Given the description of an element on the screen output the (x, y) to click on. 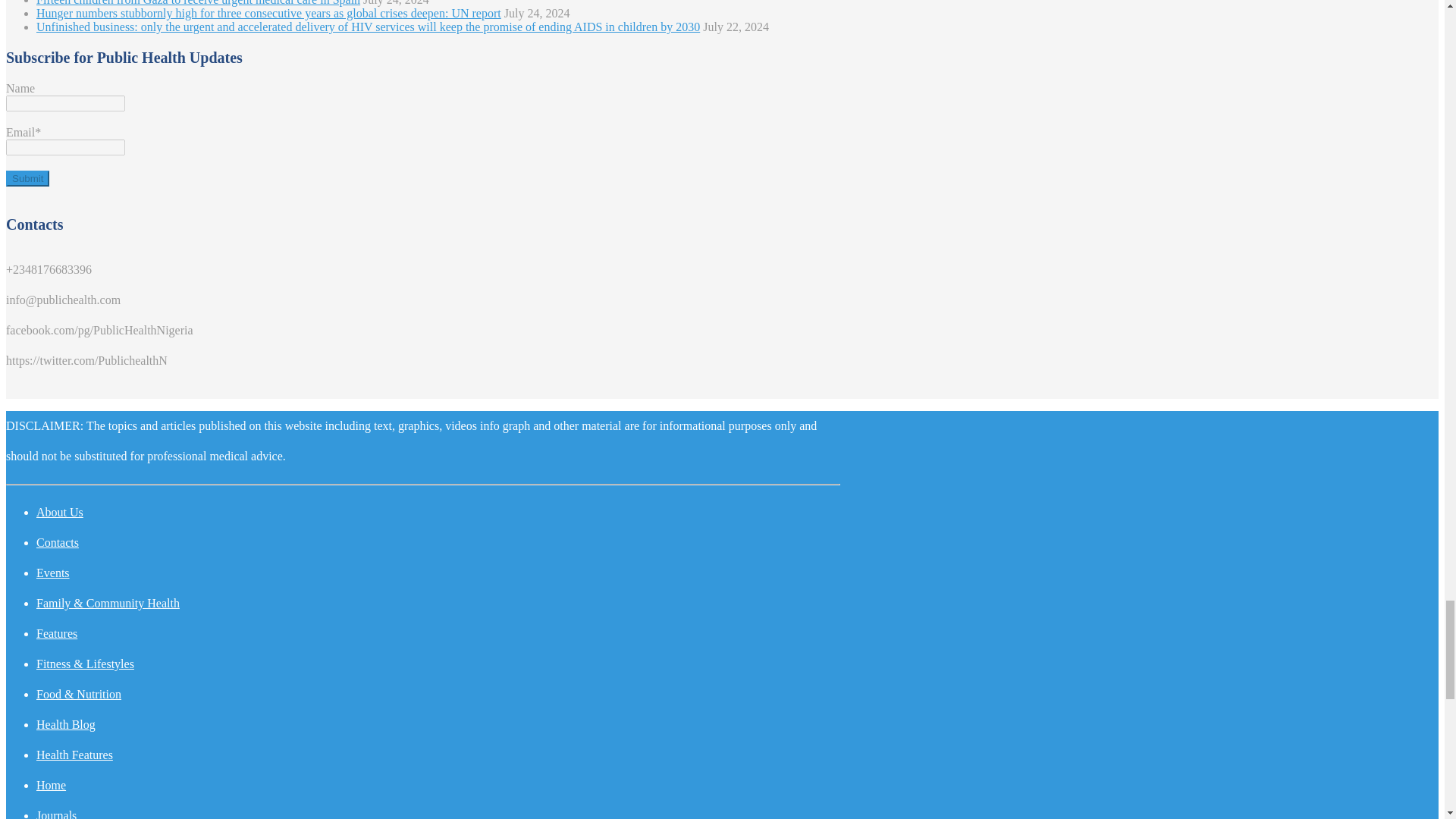
Submit (27, 178)
